Given the description of an element on the screen output the (x, y) to click on. 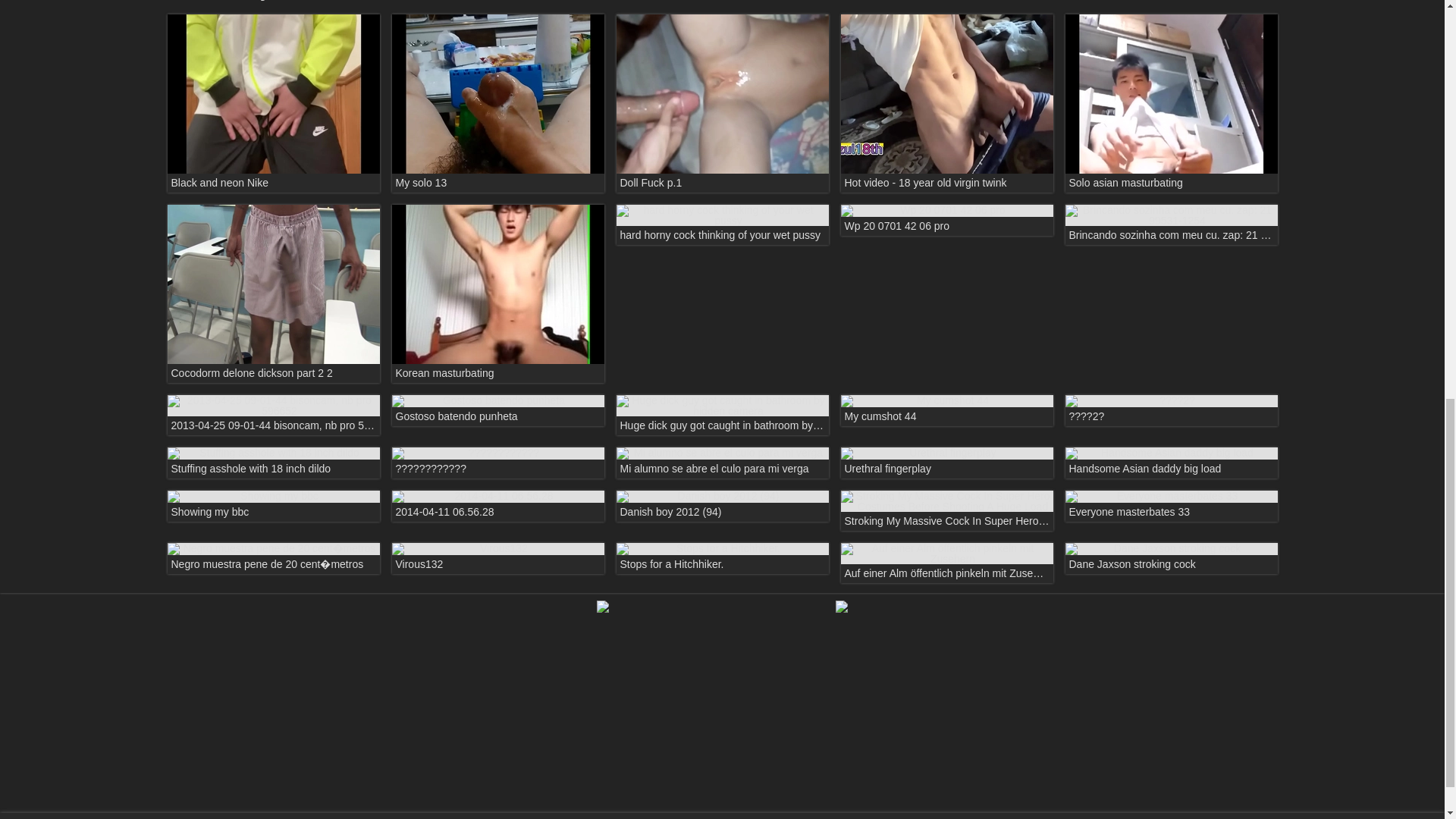
Korean masturbating (497, 293)
Wp 20 0701 42 06 pro (946, 219)
Huge dick guy got caught in bathroom by hidden camera (721, 413)
Urethral fingerplay (946, 462)
Black and neon Nike (272, 102)
My cumshot 44 (946, 409)
Gostoso batendo punheta (497, 409)
Cocodorm  delone dickson part 2 2 (272, 293)
Cocodorm delone dickson part 2 2 (272, 293)
????2? (1170, 409)
Stuffing asshole with 18 inch dildo (272, 462)
Handsome Asian daddy big load (1170, 462)
Hot video - 18 year old virgin twink (946, 102)
Korean masturbating (497, 293)
